Given the description of an element on the screen output the (x, y) to click on. 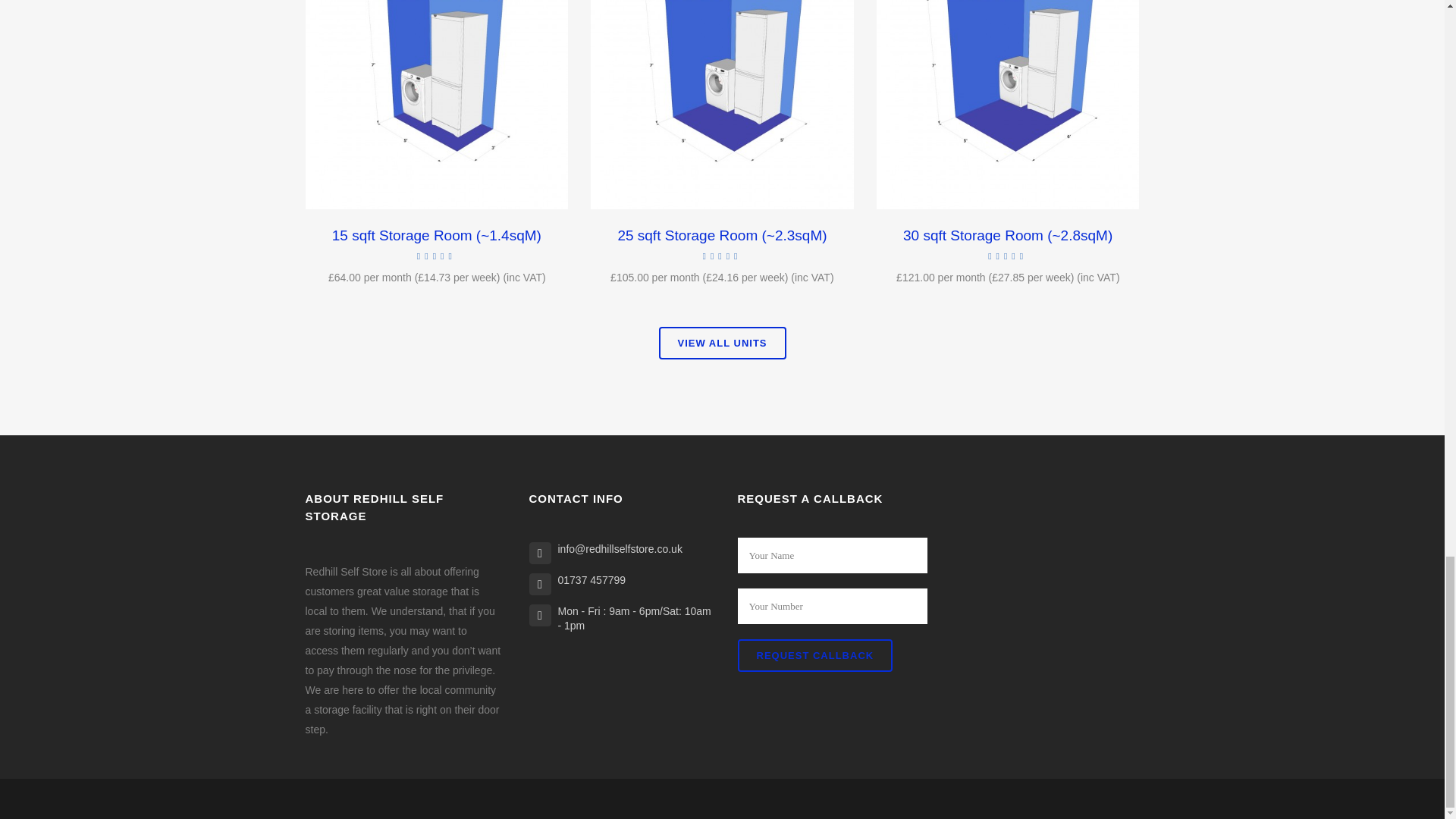
Your Name (831, 555)
Request callback (814, 655)
Your Number (831, 606)
